Given the description of an element on the screen output the (x, y) to click on. 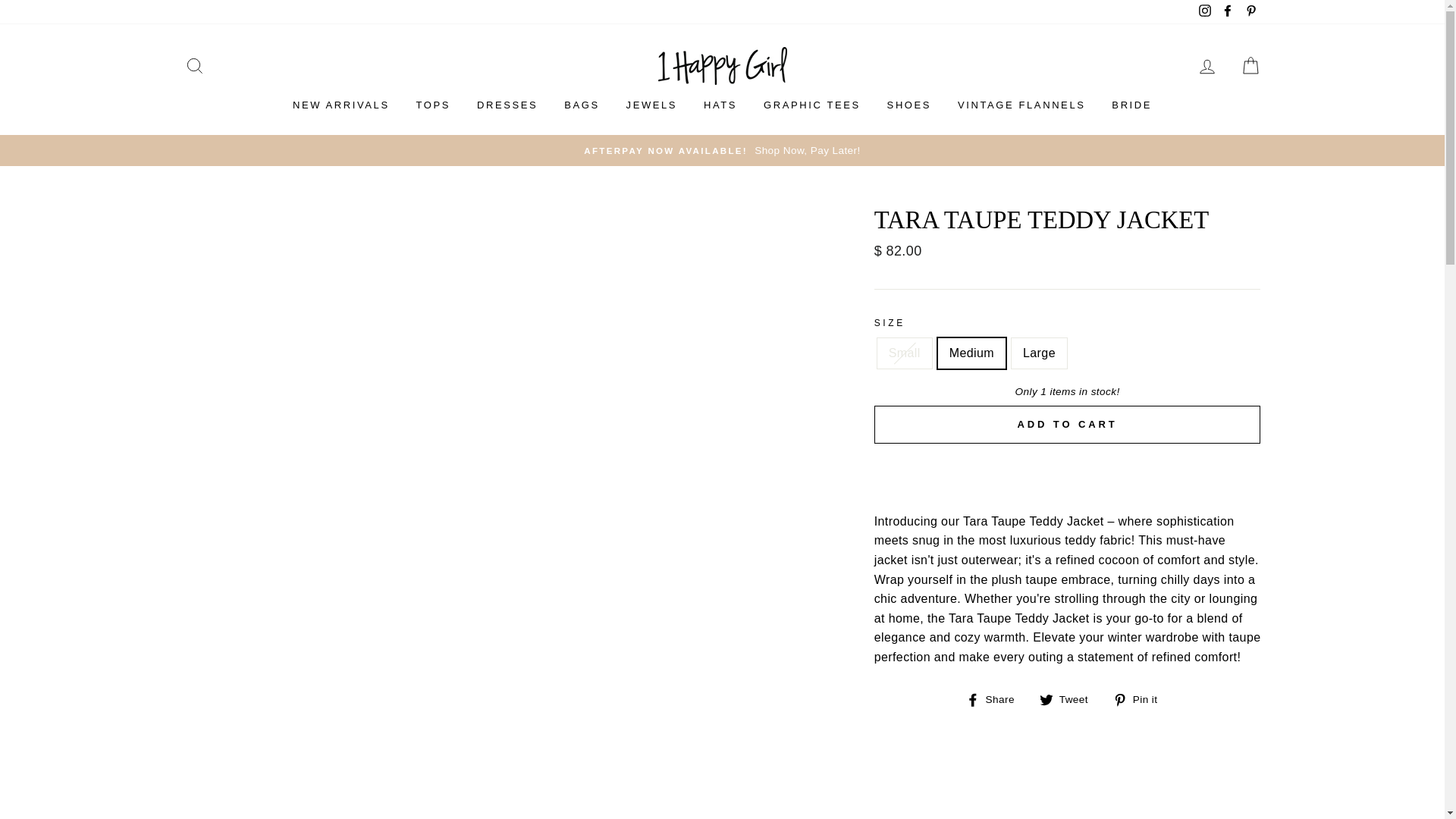
CART (1249, 65)
NEW ARRIVALS (341, 105)
DRESSES (506, 105)
SEARCH (194, 65)
Pin on Pinterest (1141, 700)
LOG IN (1207, 65)
ADD TO CART (1067, 424)
